Given the description of an element on the screen output the (x, y) to click on. 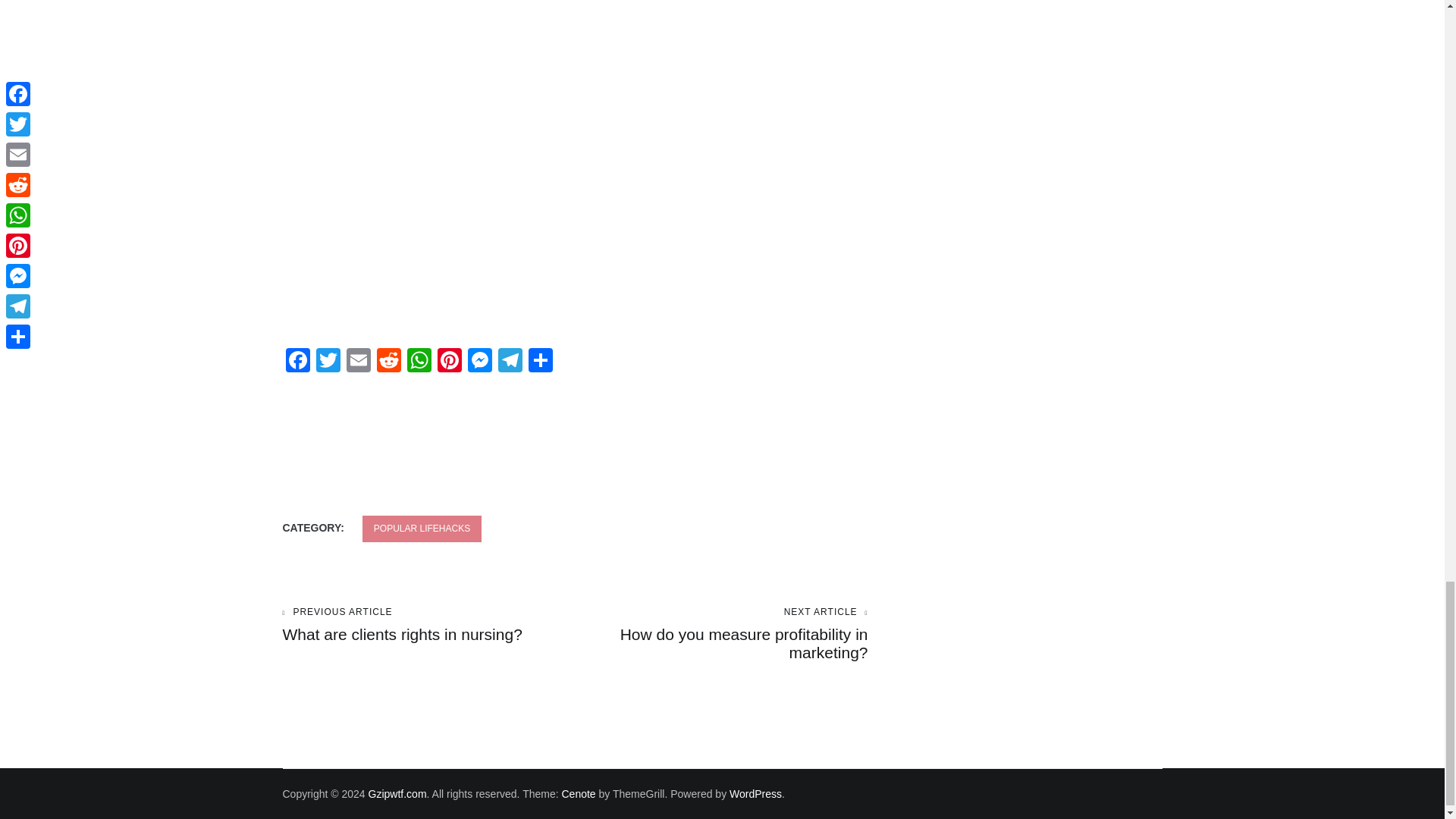
Facebook (297, 361)
Reddit (387, 361)
Pinterest (448, 361)
Gzipwtf.com (397, 793)
WhatsApp (721, 633)
Reddit (418, 361)
Telegram (387, 361)
Messenger (509, 361)
WhatsApp (479, 361)
